Given the description of an element on the screen output the (x, y) to click on. 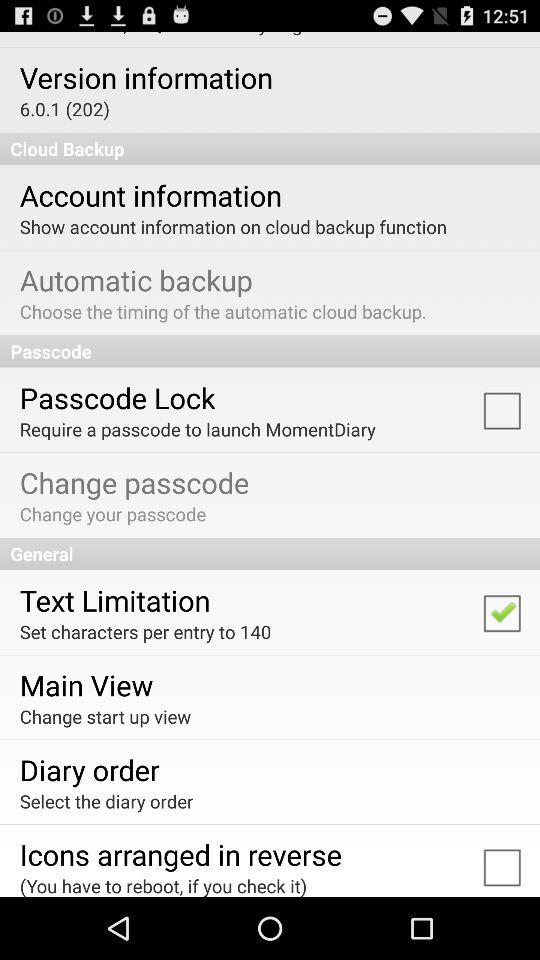
scroll to how to use icon (162, 33)
